Given the description of an element on the screen output the (x, y) to click on. 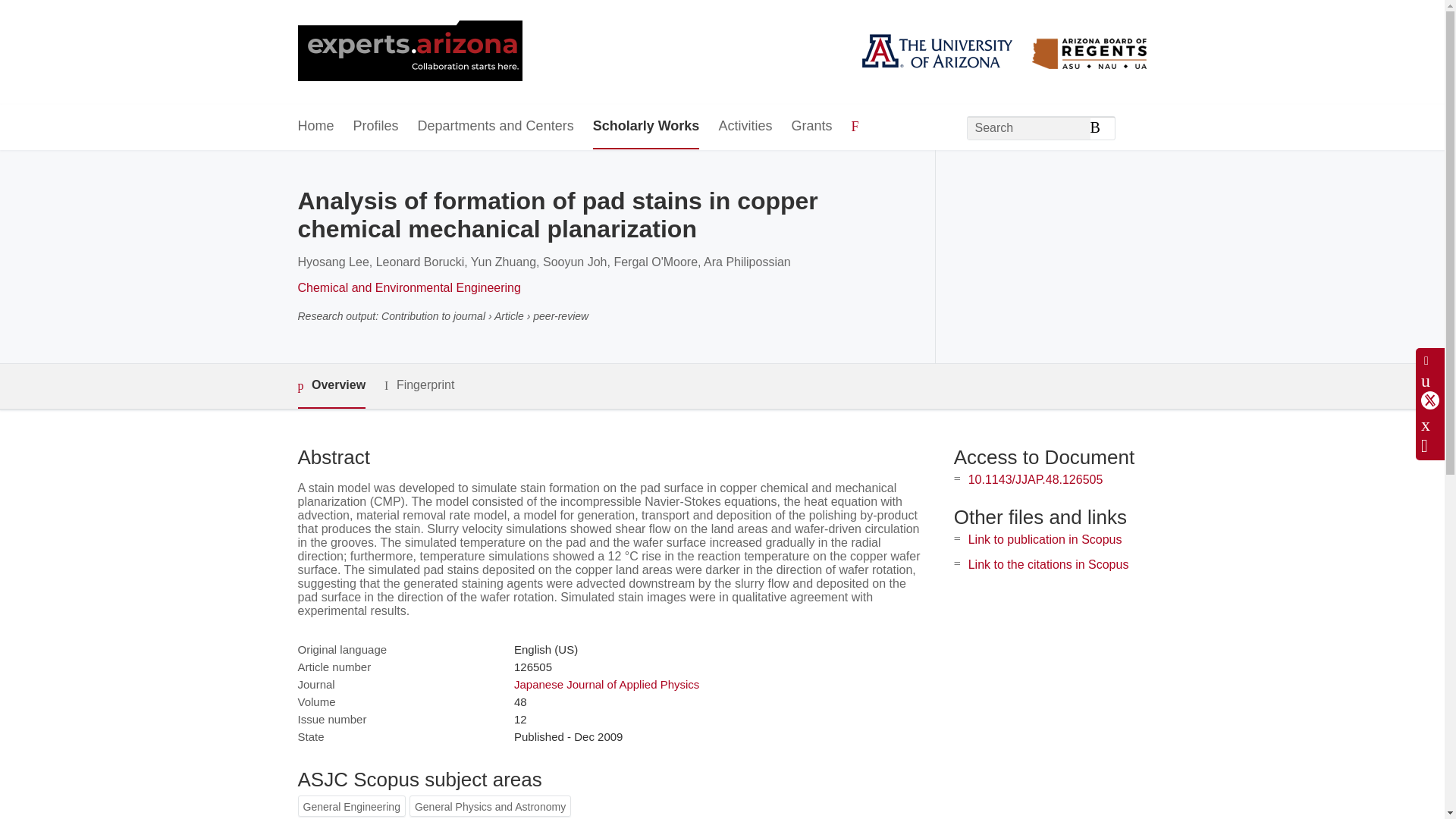
Scholarly Works (646, 126)
Link to the citations in Scopus (1048, 563)
Departments and Centers (495, 126)
Activities (744, 126)
Fingerprint (419, 385)
Profiles (375, 126)
University of Arizona Home (409, 52)
Japanese Journal of Applied Physics (605, 684)
Overview (331, 385)
